Given the description of an element on the screen output the (x, y) to click on. 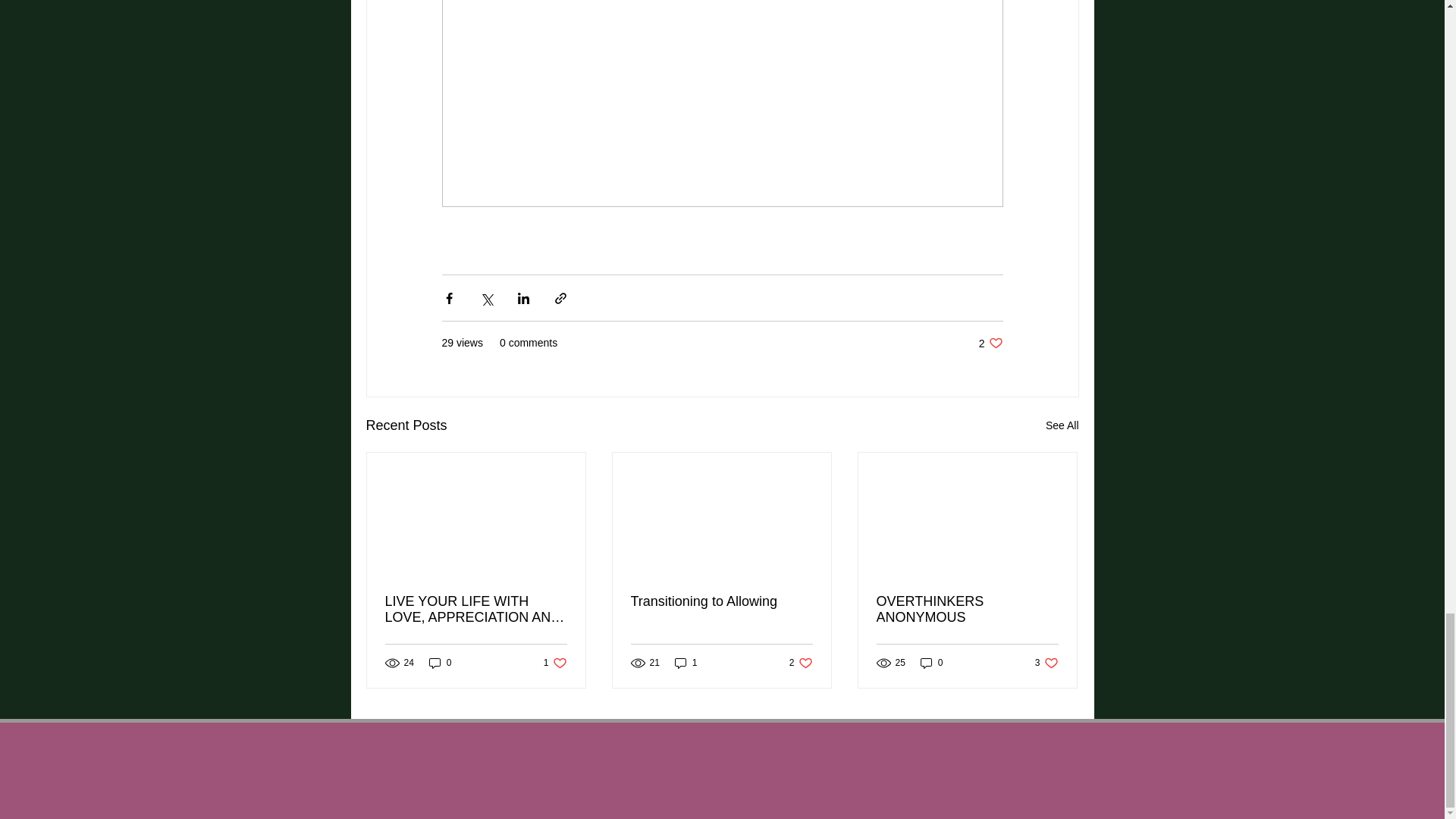
0 (800, 663)
1 (931, 663)
Transitioning to Allowing (685, 663)
0 (721, 601)
See All (990, 342)
OVERTHINKERS ANONYMOUS (440, 663)
LIVE YOUR LIFE WITH LOVE, APPRECIATION AND KINDNESS (1061, 425)
